Given the description of an element on the screen output the (x, y) to click on. 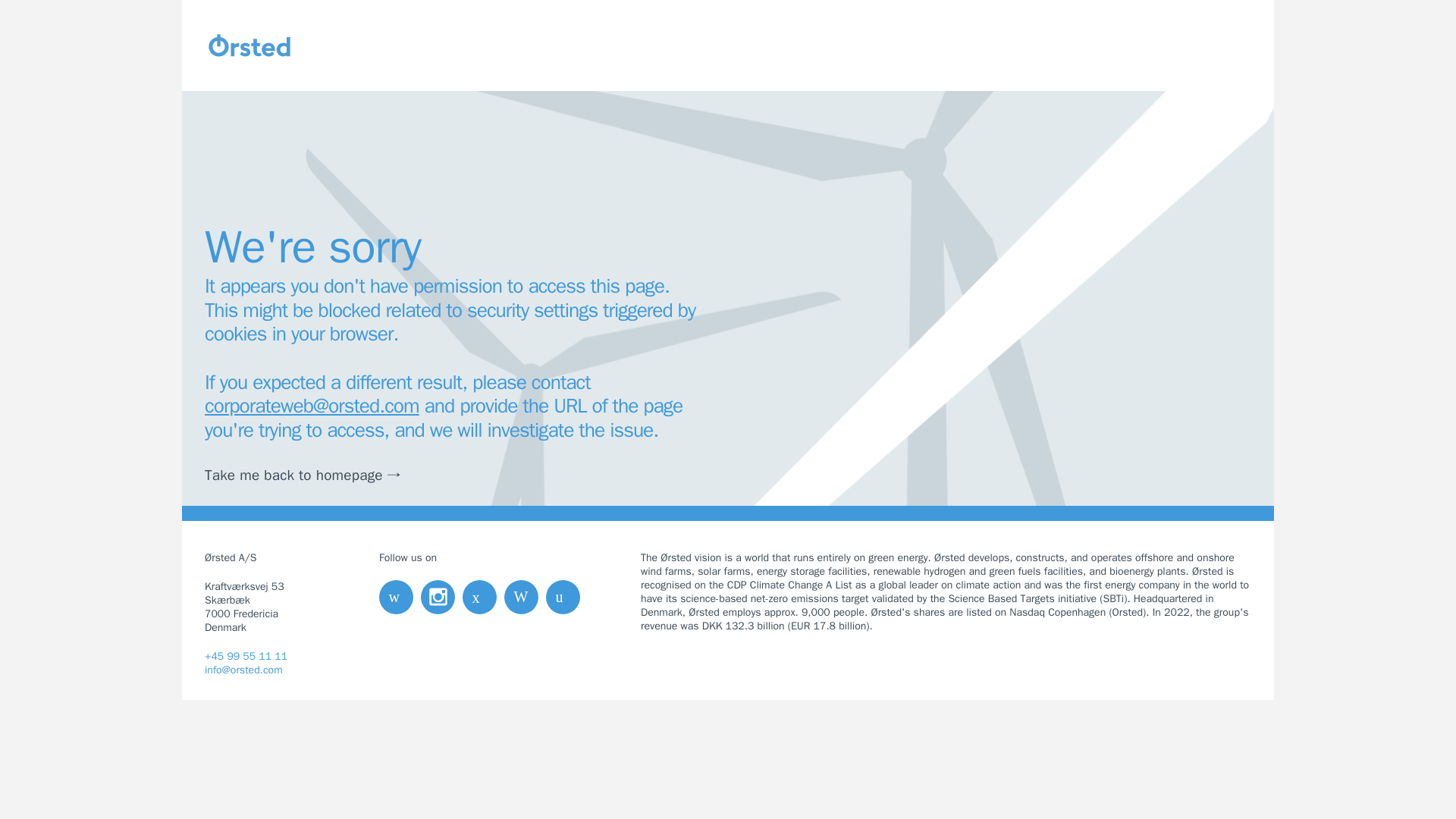
Take me back to homepage (312, 475)
